Given the description of an element on the screen output the (x, y) to click on. 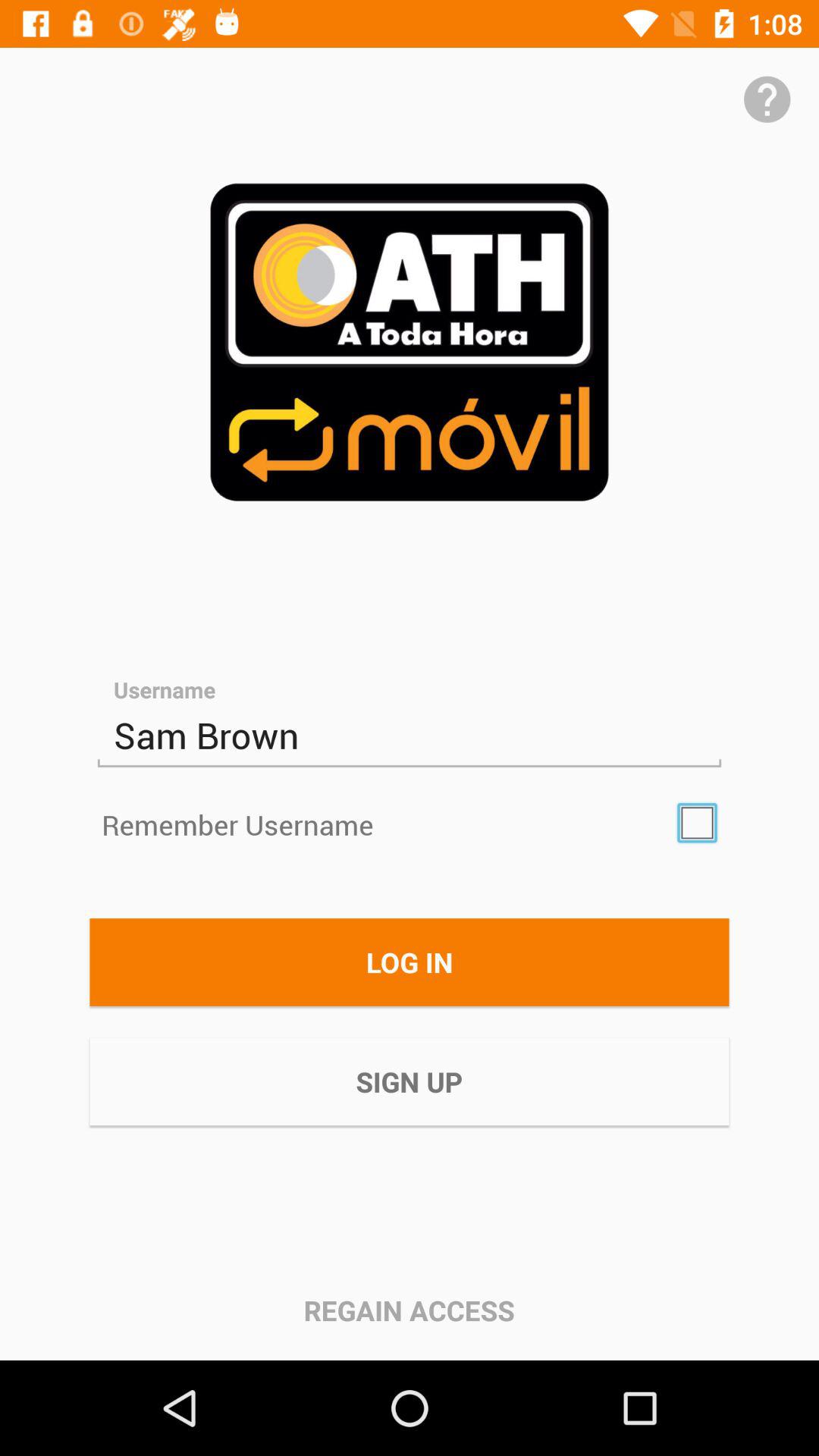
turn on item to the right of the remember username icon (697, 822)
